Given the description of an element on the screen output the (x, y) to click on. 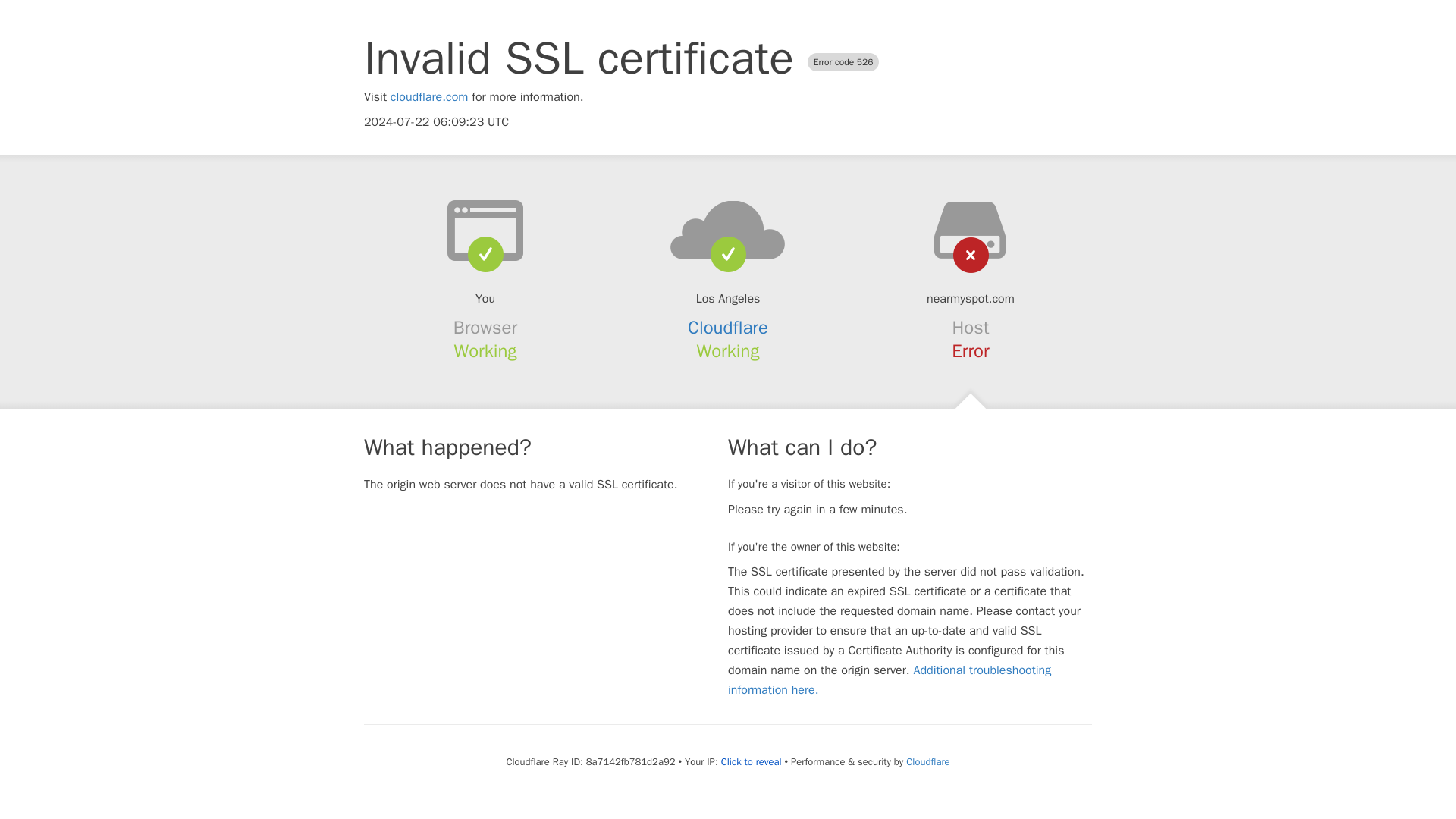
Click to reveal (750, 762)
cloudflare.com (429, 96)
Cloudflare (927, 761)
Additional troubleshooting information here. (889, 679)
Cloudflare (727, 327)
